Given the description of an element on the screen output the (x, y) to click on. 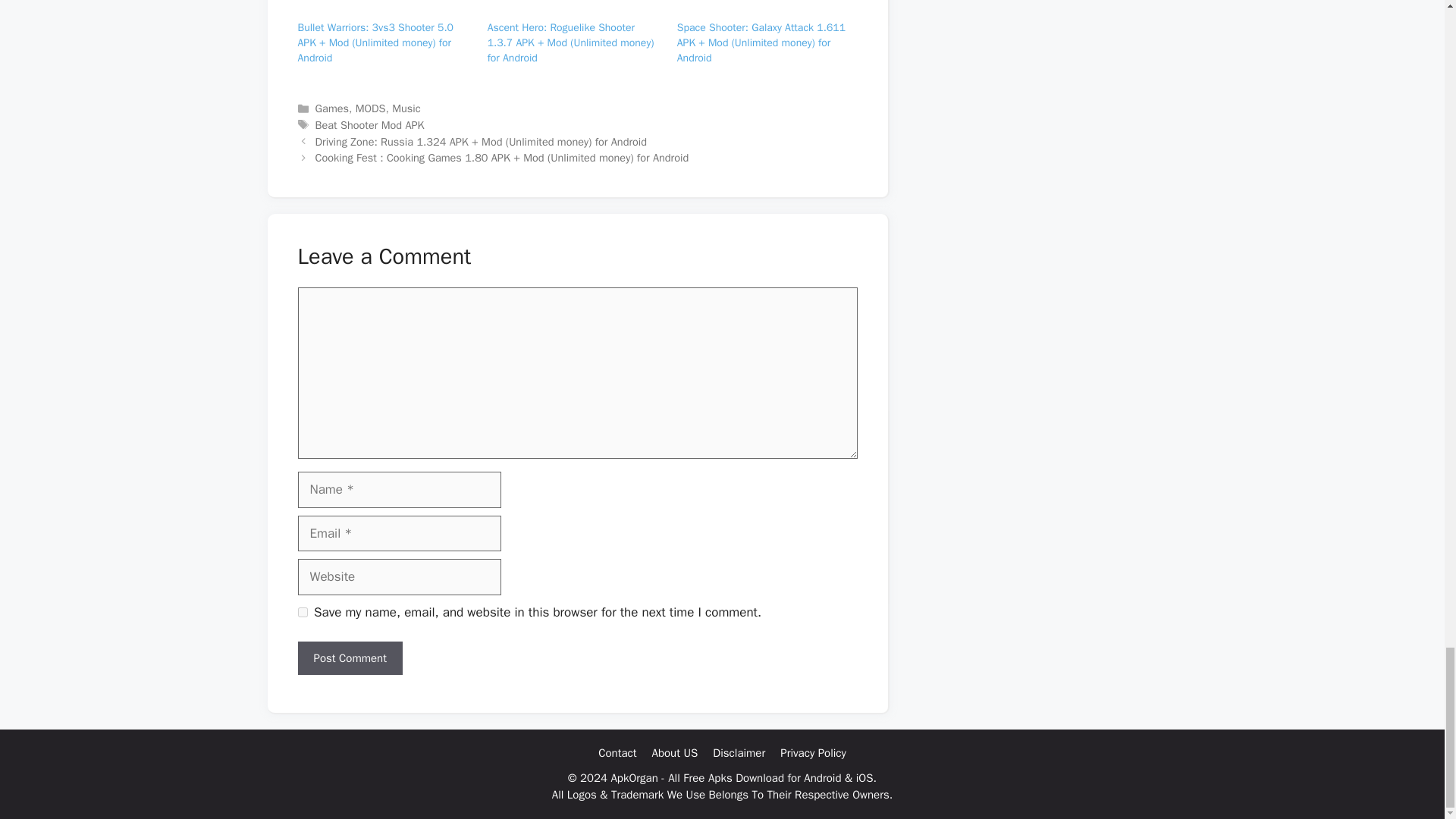
yes (302, 612)
Post Comment (349, 658)
